Given the description of an element on the screen output the (x, y) to click on. 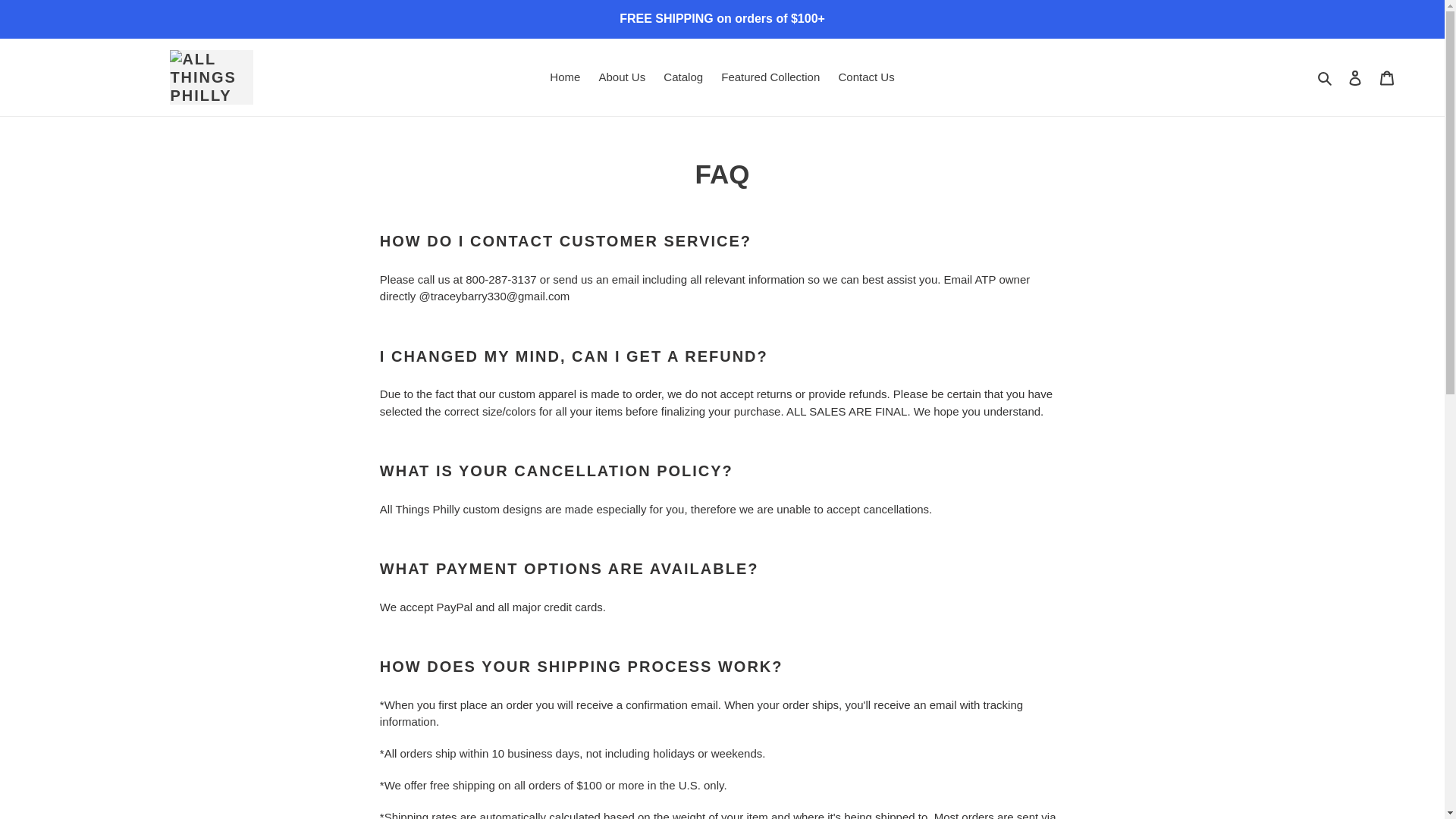
Search (1326, 76)
Log in (1355, 77)
Cart (1387, 77)
Home (564, 77)
Catalog (683, 77)
Contact Us (865, 77)
Featured Collection (770, 77)
About Us (621, 77)
